Given the description of an element on the screen output the (x, y) to click on. 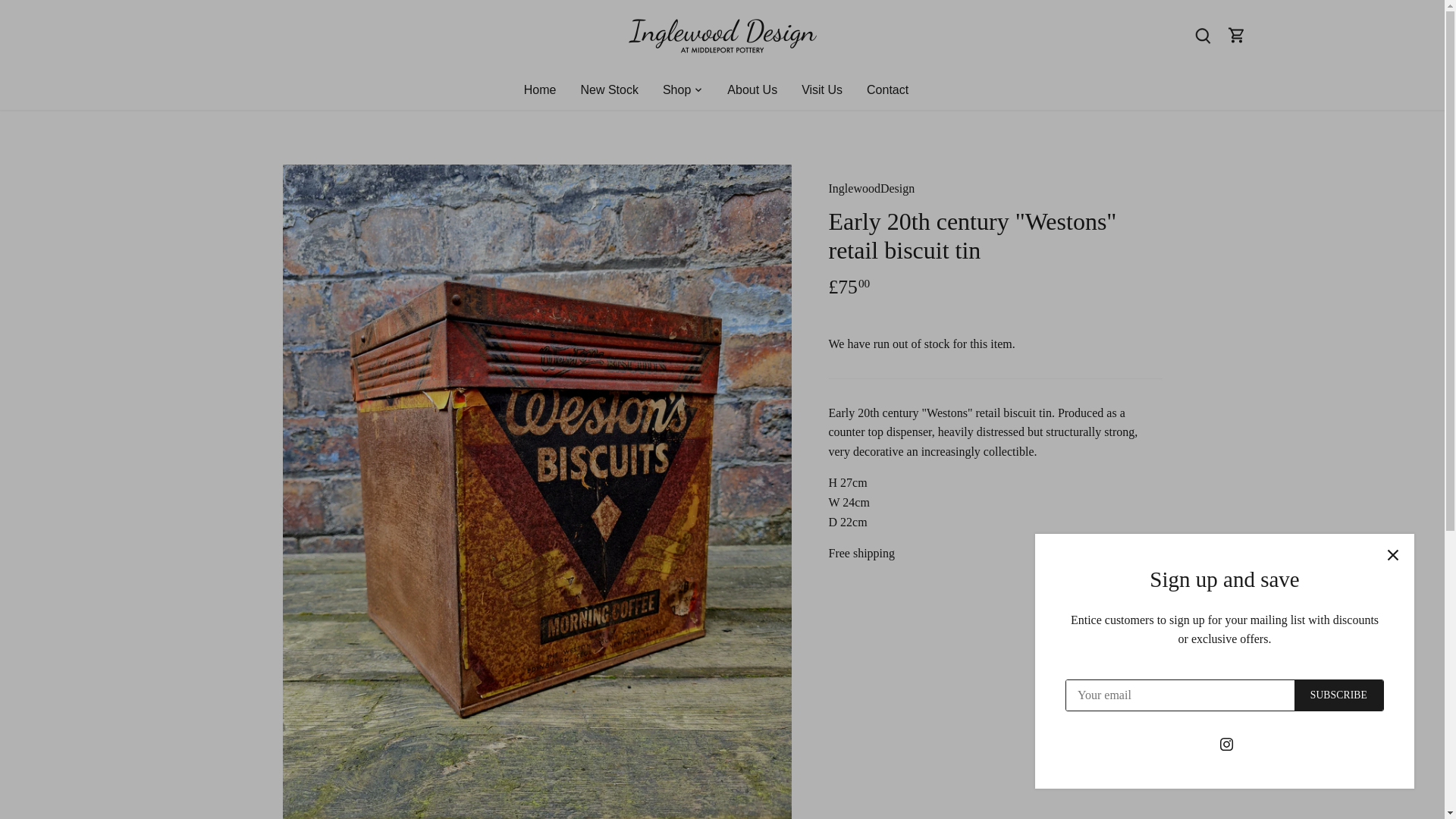
Shop (676, 89)
Contact (887, 89)
Home (546, 89)
New Stock (608, 89)
About Us (751, 89)
Visit Us (821, 89)
